Given the description of an element on the screen output the (x, y) to click on. 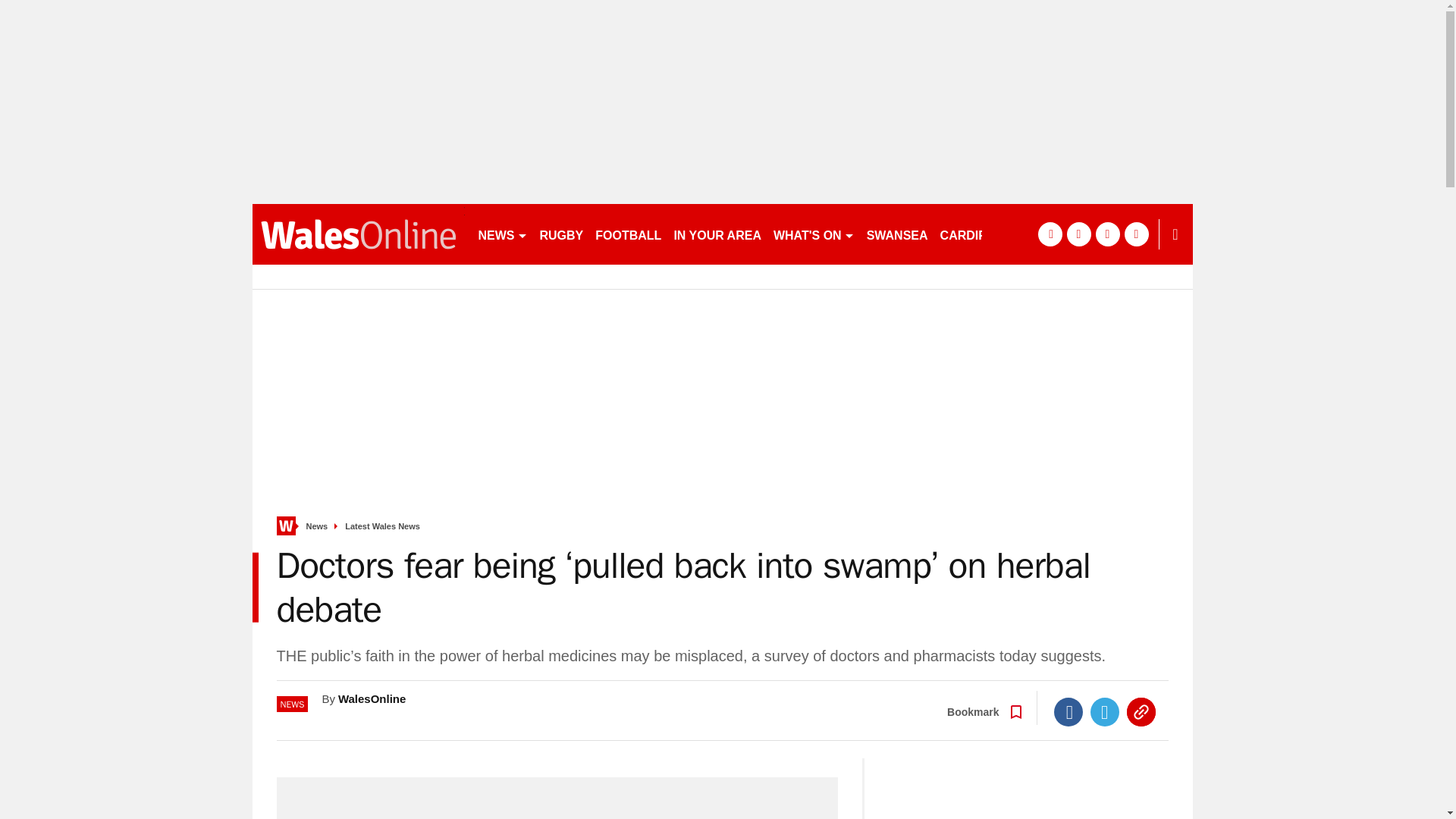
facebook (1048, 233)
twitter (1077, 233)
instagram (1136, 233)
SWANSEA (897, 233)
Facebook (1068, 711)
walesonline (357, 233)
IN YOUR AREA (716, 233)
FOOTBALL (627, 233)
WHAT'S ON (813, 233)
NEWS (501, 233)
